Given the description of an element on the screen output the (x, y) to click on. 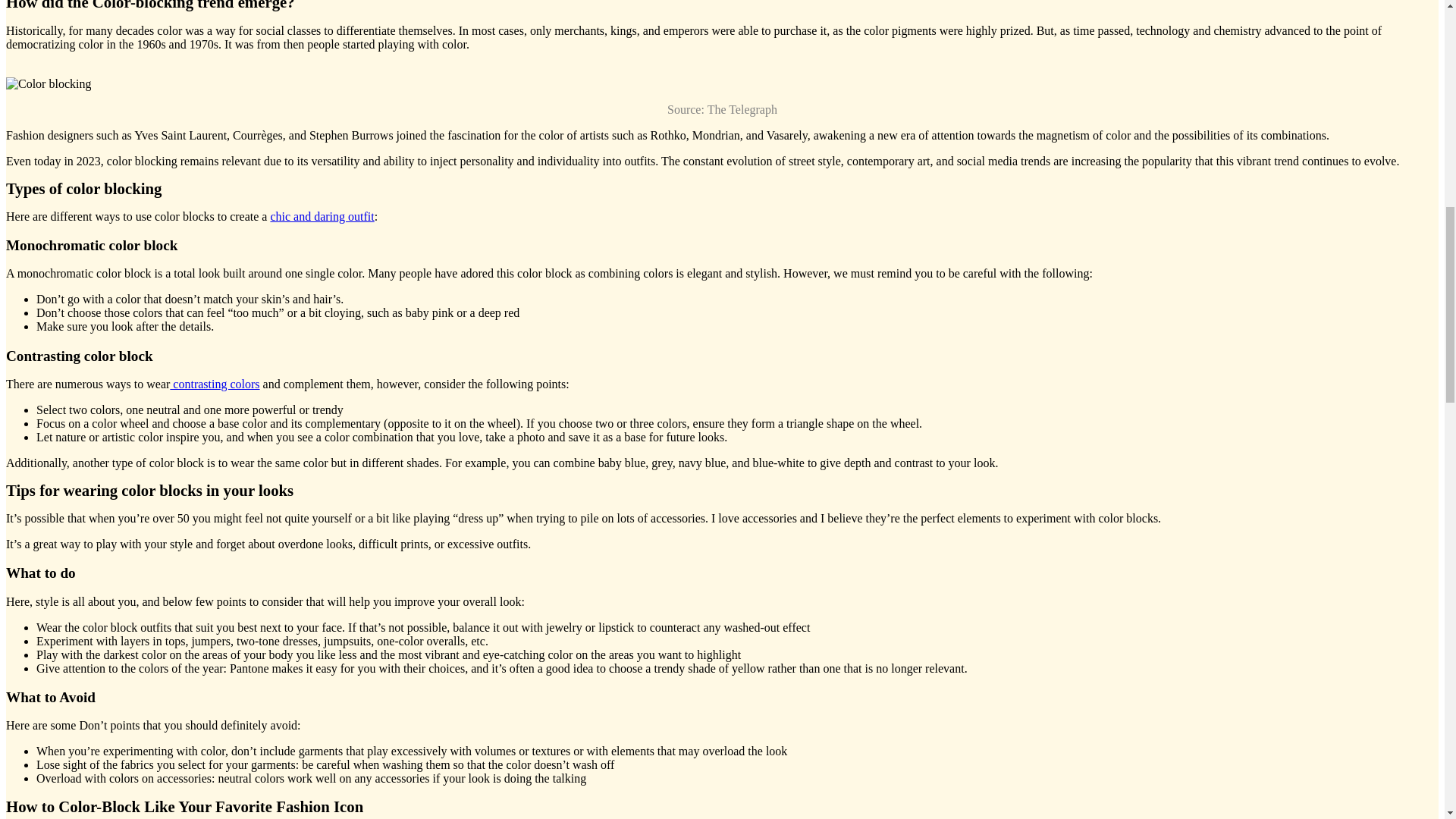
chic and daring outfit (321, 215)
contrasting colors (214, 383)
The Telegraph (742, 109)
